Given the description of an element on the screen output the (x, y) to click on. 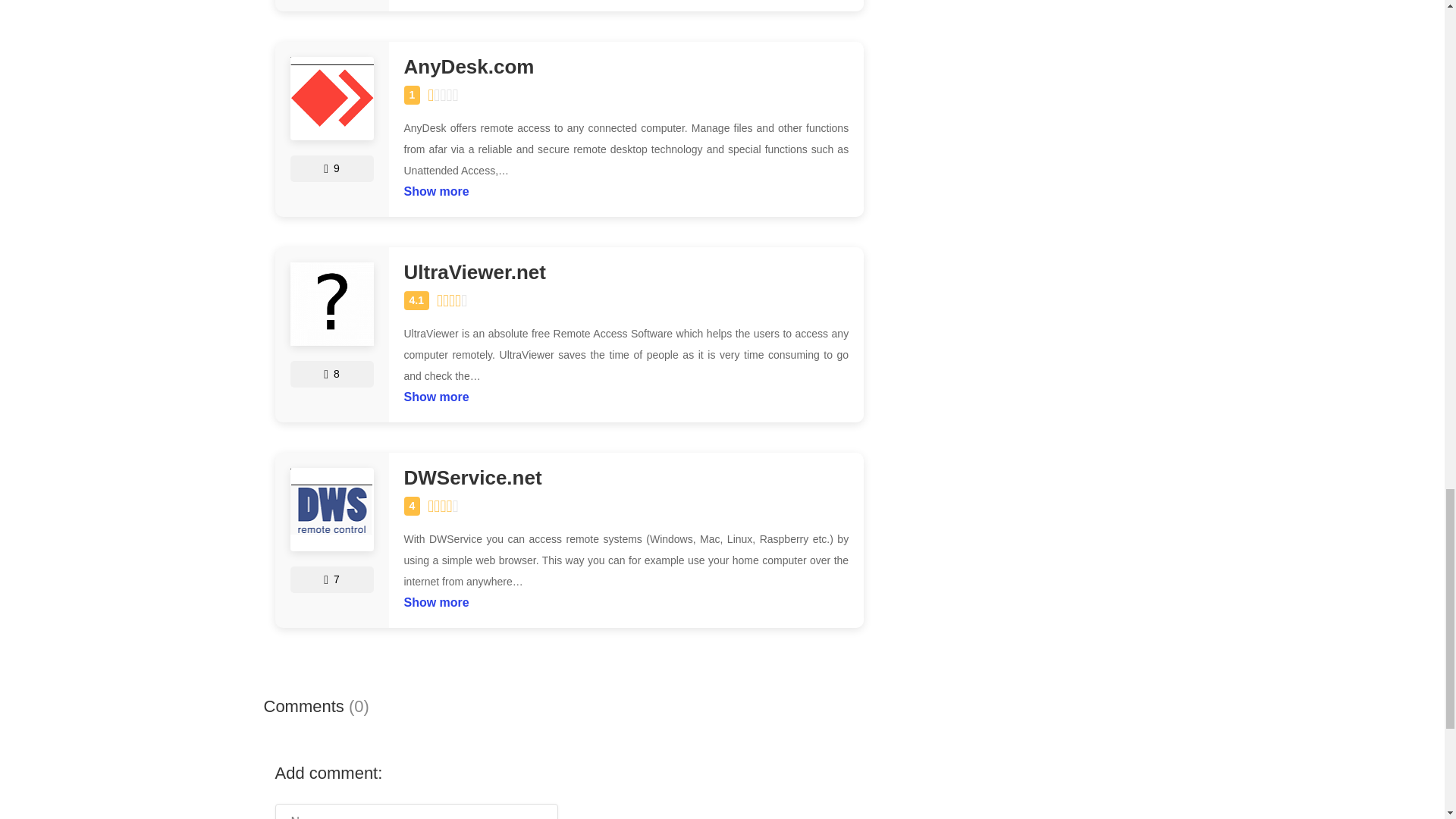
UltraViewer.net (625, 272)
DWService.net (625, 477)
Show more (435, 393)
Show more (435, 187)
Show more (435, 598)
AnyDesk.com (625, 66)
